Given the description of an element on the screen output the (x, y) to click on. 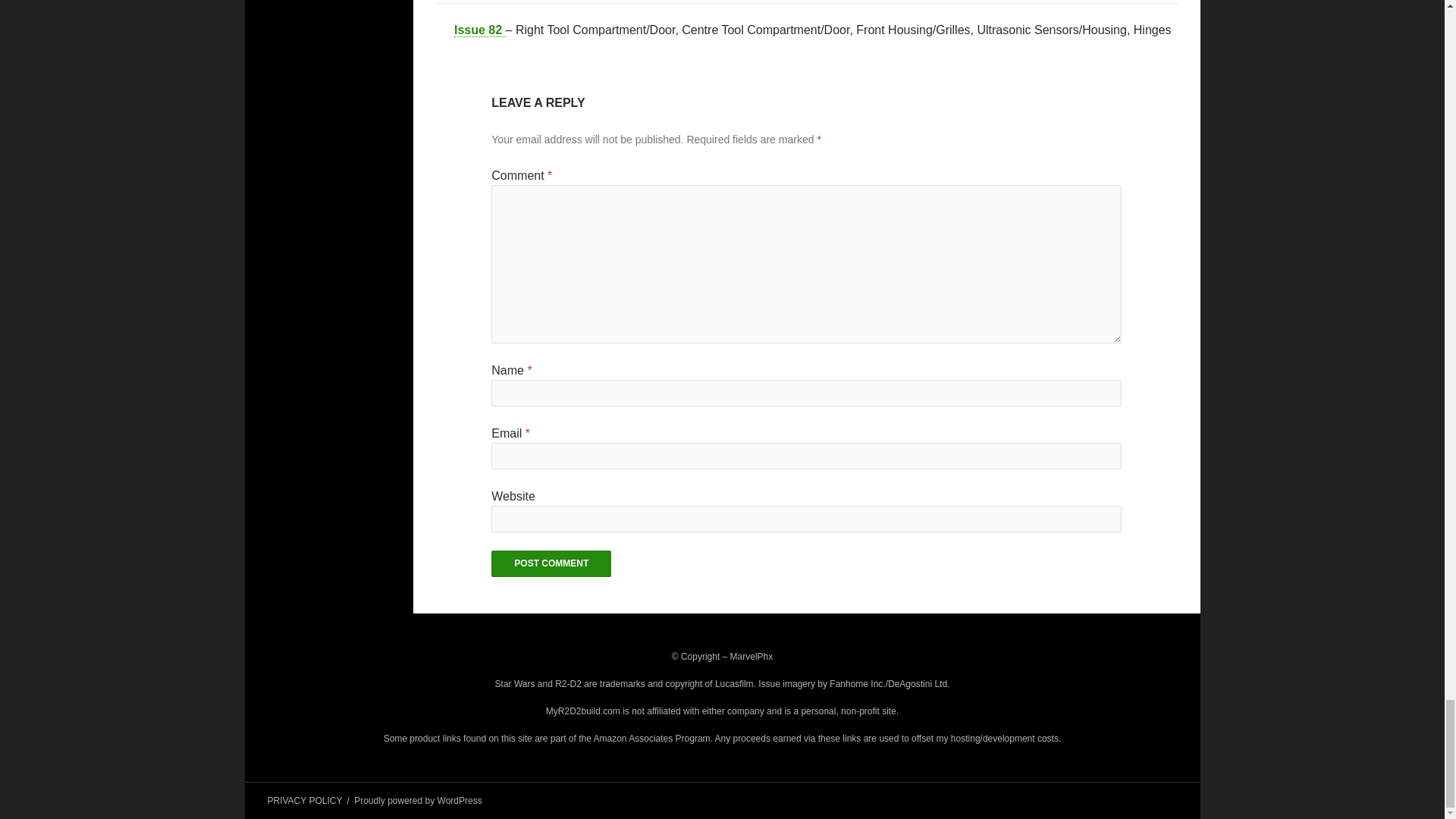
Post Comment (551, 563)
